Given the description of an element on the screen output the (x, y) to click on. 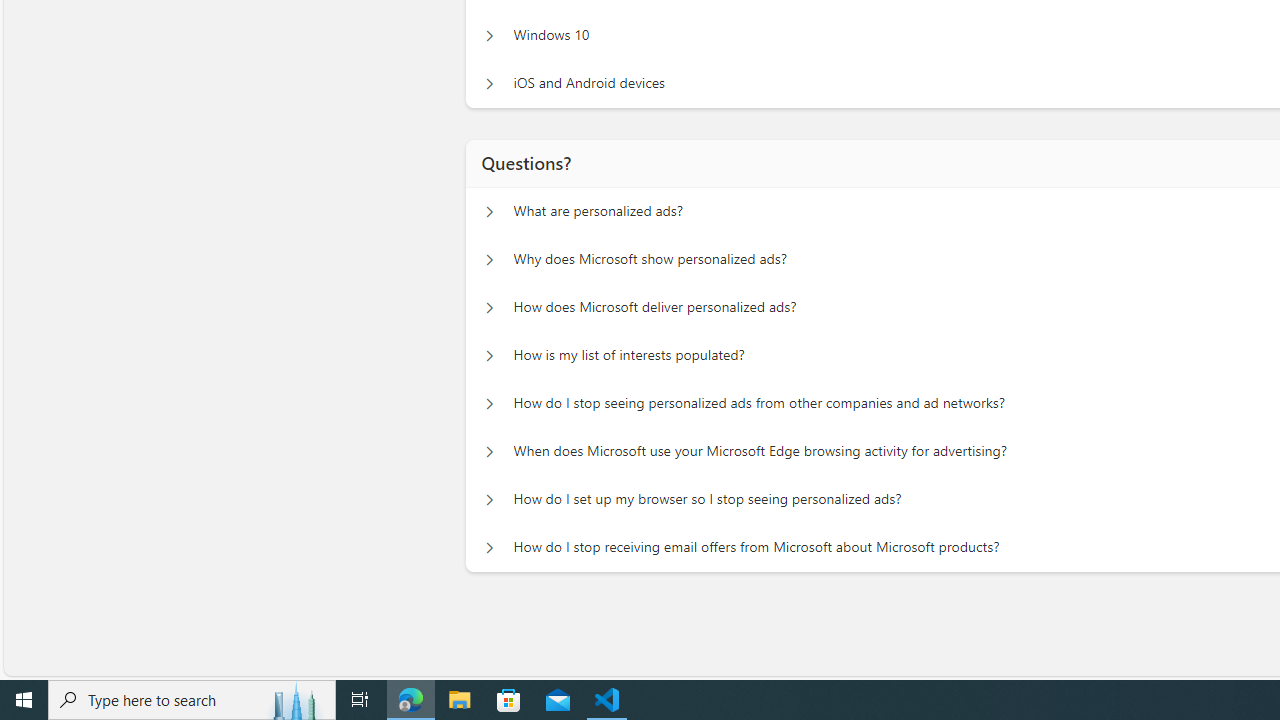
Questions? What are personalized ads? (489, 211)
Manage personalized ads on your device Windows 10 (489, 36)
Questions? How is my list of interests populated? (489, 355)
Questions? How does Microsoft deliver personalized ads? (489, 307)
Questions? Why does Microsoft show personalized ads? (489, 260)
